Given the description of an element on the screen output the (x, y) to click on. 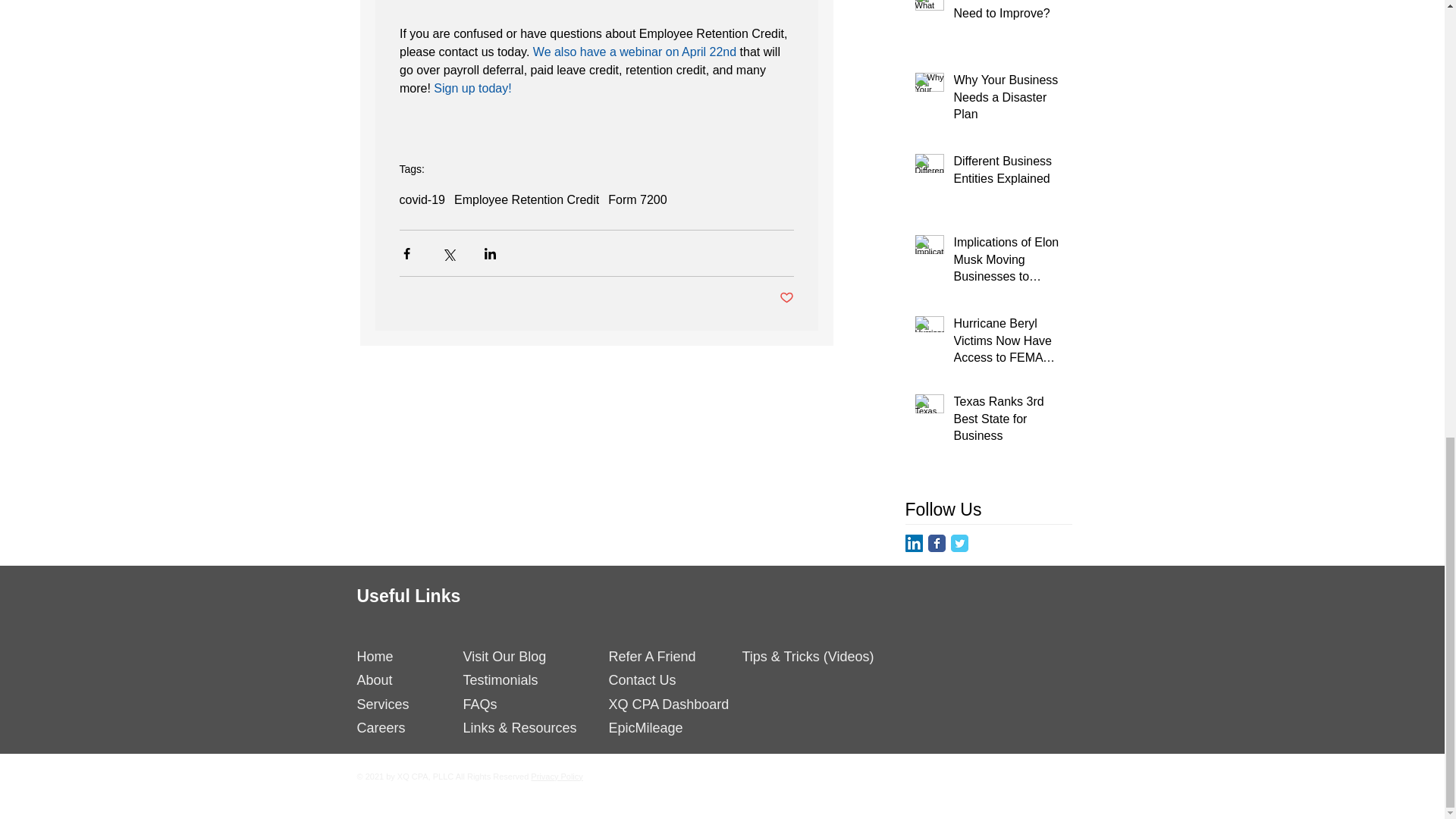
Sign up today! (472, 88)
We also have a webinar on April 22nd (633, 51)
Employee Retention Credit (526, 200)
covid-19 (421, 200)
